Given the description of an element on the screen output the (x, y) to click on. 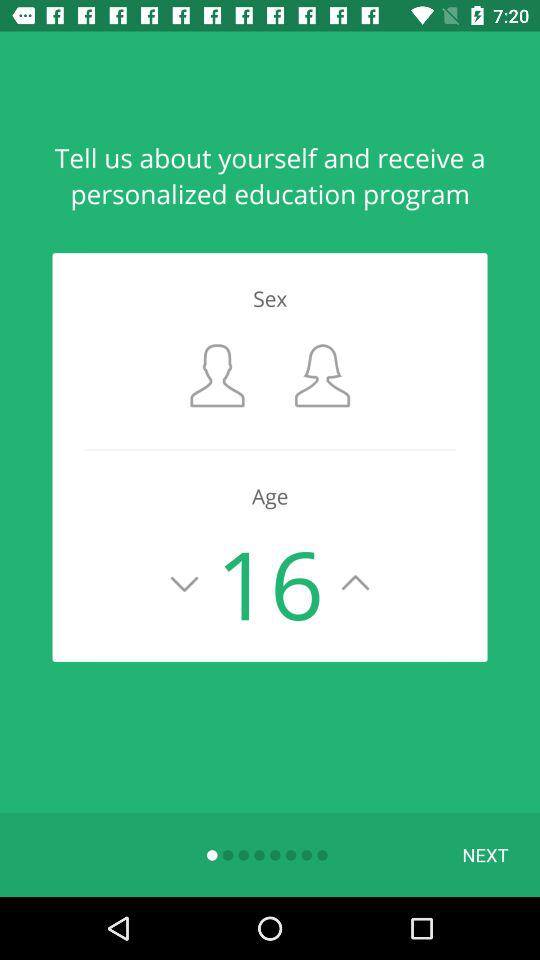
choose the icon below sex (217, 375)
